Given the description of an element on the screen output the (x, y) to click on. 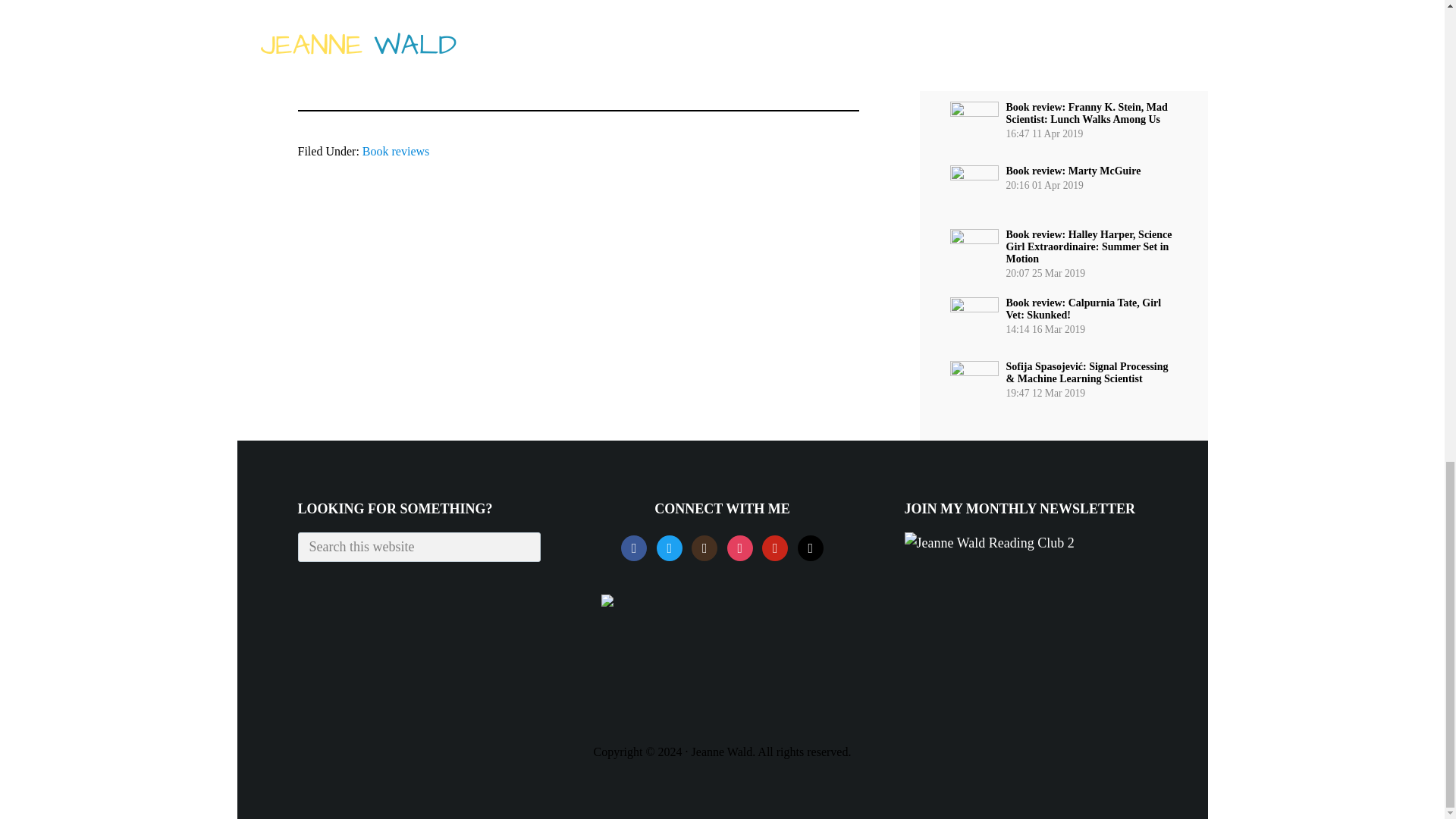
Join STEM Girls Reading Club (989, 543)
BookBub (721, 600)
Default Label (774, 546)
Default Label (704, 546)
Twitter (669, 546)
Instagram (739, 546)
Book reviews (395, 151)
Facebook (633, 546)
Default Label (810, 546)
